Given the description of an element on the screen output the (x, y) to click on. 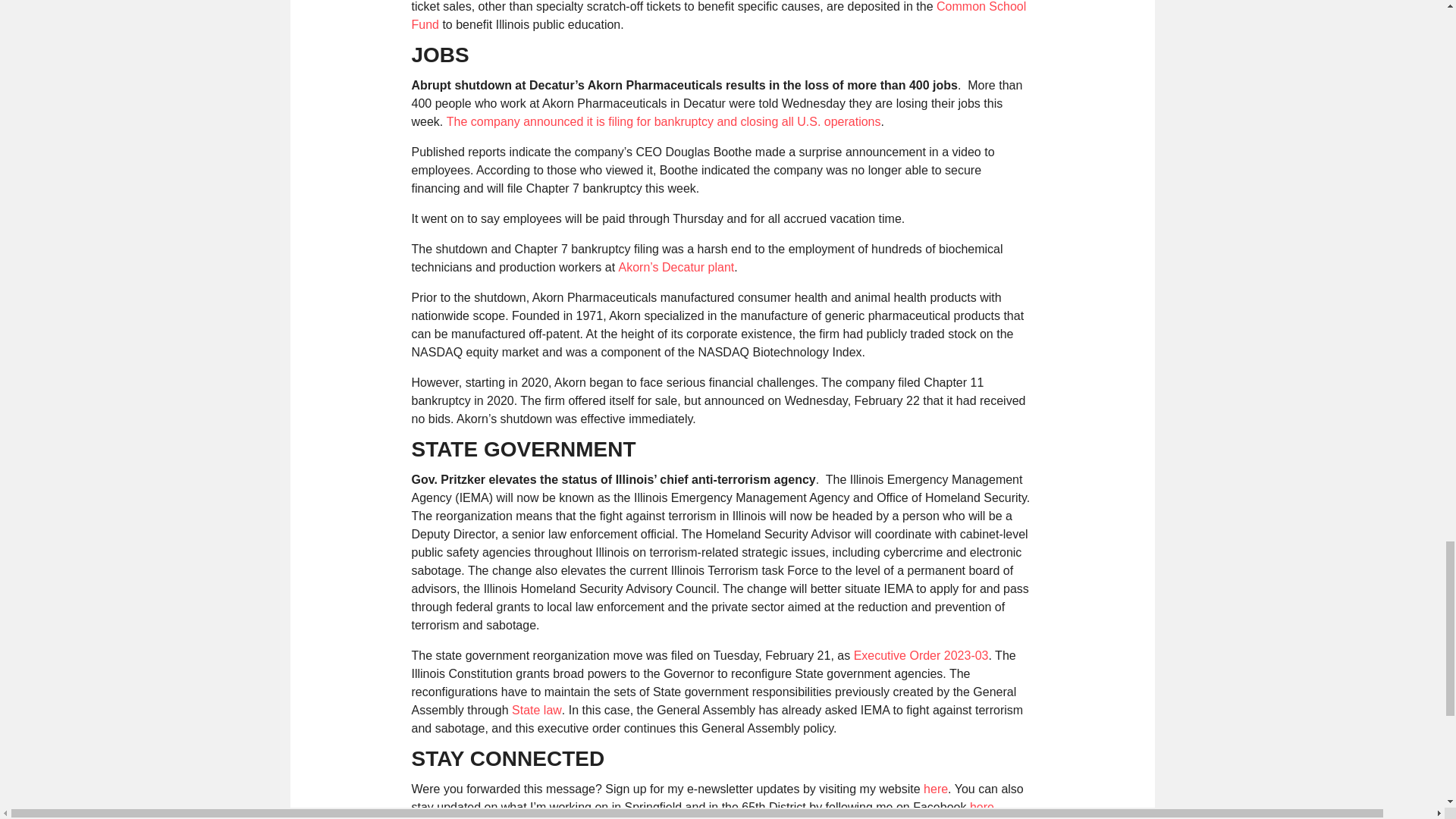
here (935, 788)
Executive Order 2023-03 (920, 655)
State law (537, 709)
Common School Fund (718, 15)
here (981, 807)
